Given the description of an element on the screen output the (x, y) to click on. 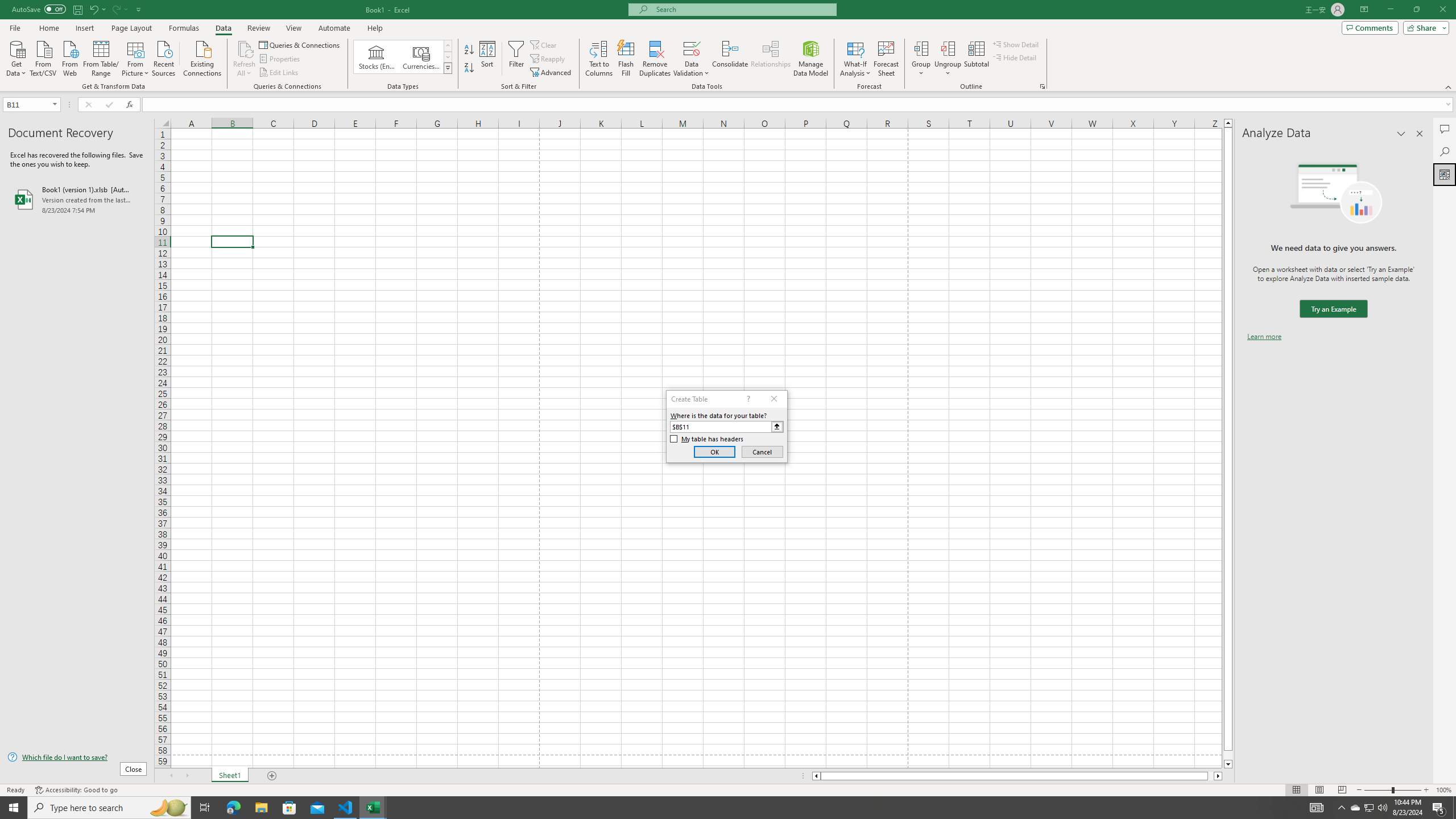
Stocks (English) (375, 56)
Class: MsoCommandBar (728, 45)
Insert (83, 28)
